Given the description of an element on the screen output the (x, y) to click on. 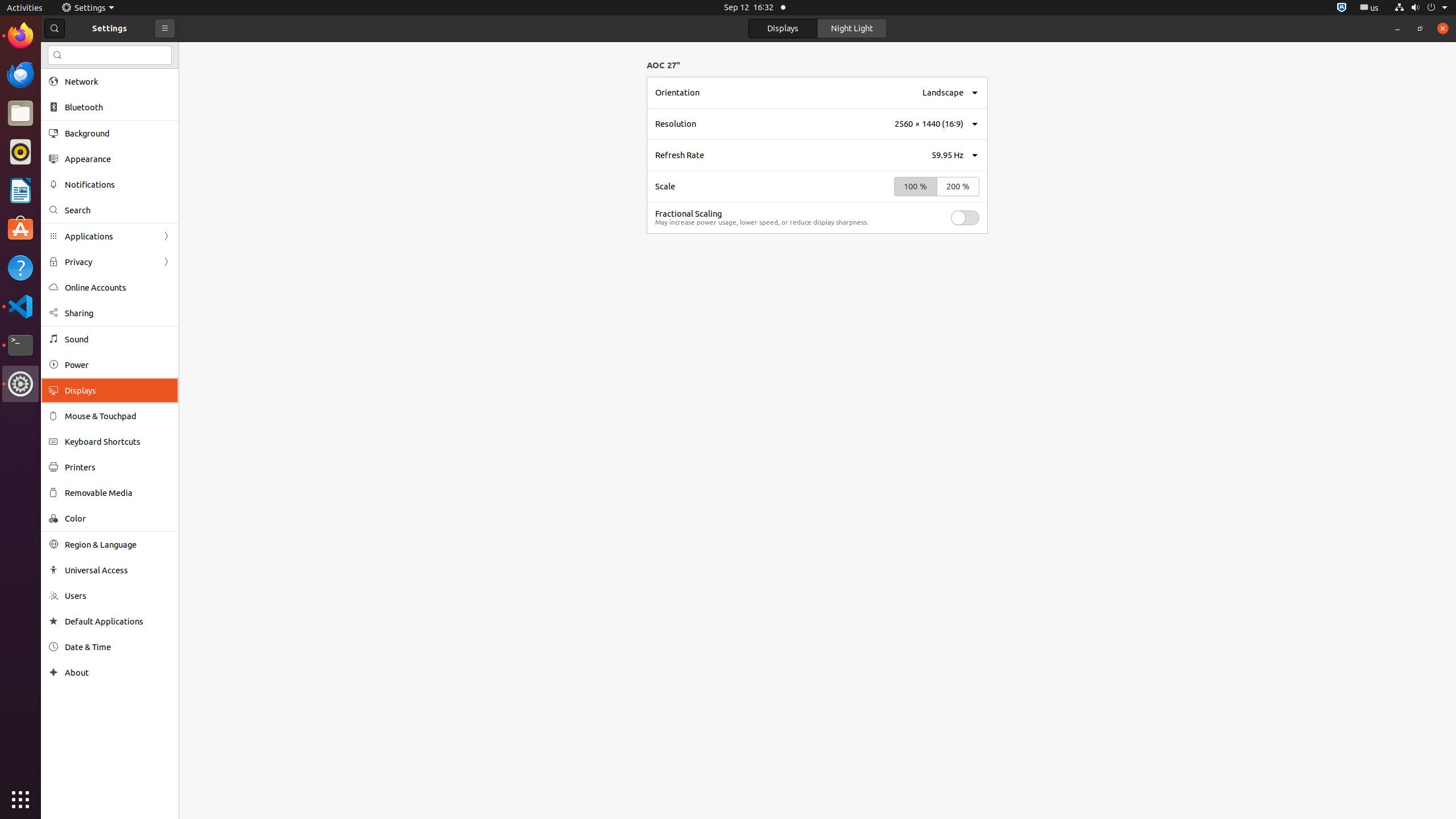
Display Configuration Element type: panel (816, 146)
Minimize Element type: push-button (1397, 27)
